Given the description of an element on the screen output the (x, y) to click on. 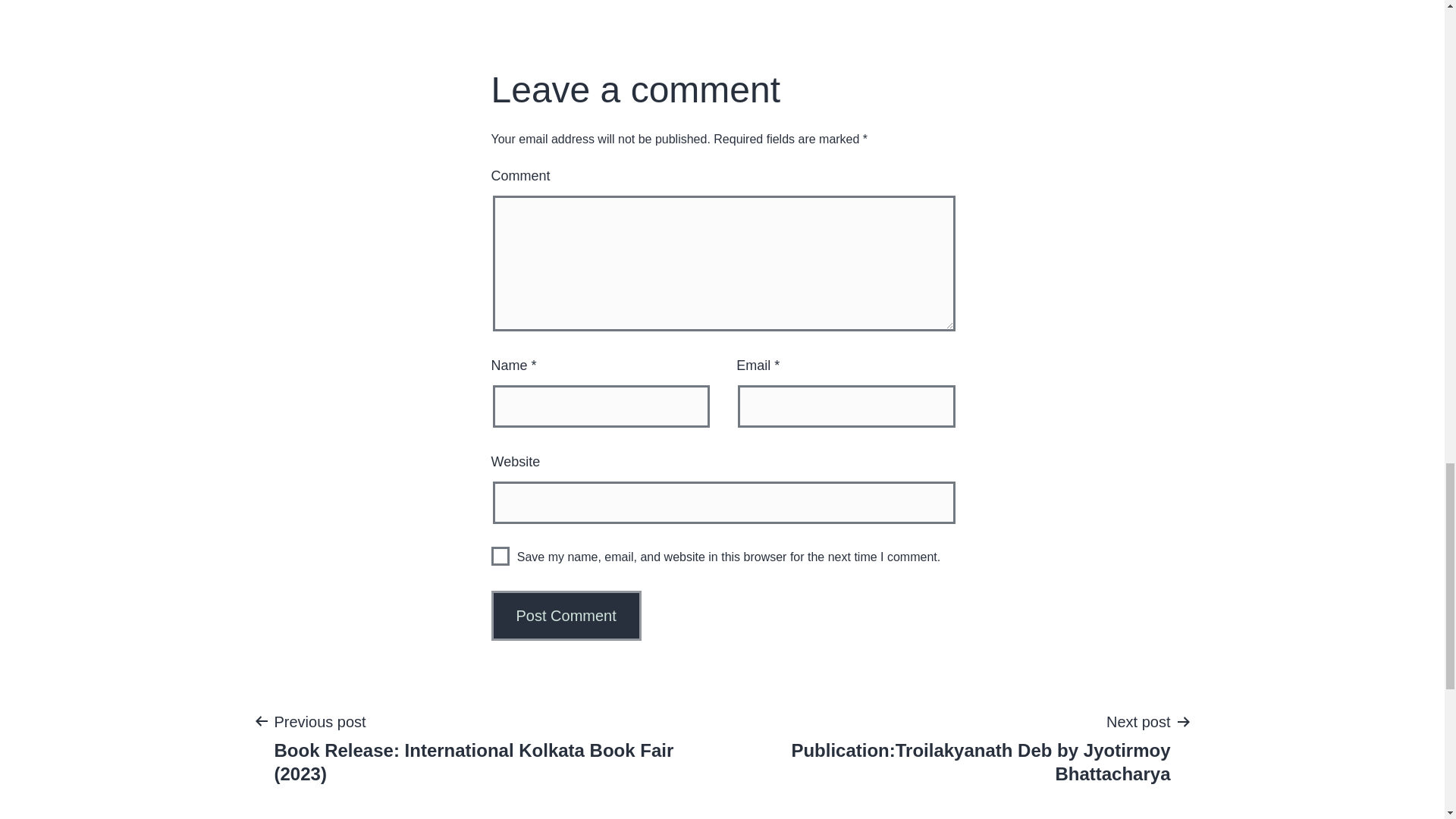
Post Comment (567, 615)
Post Comment (567, 615)
yes (500, 556)
